Given the description of an element on the screen output the (x, y) to click on. 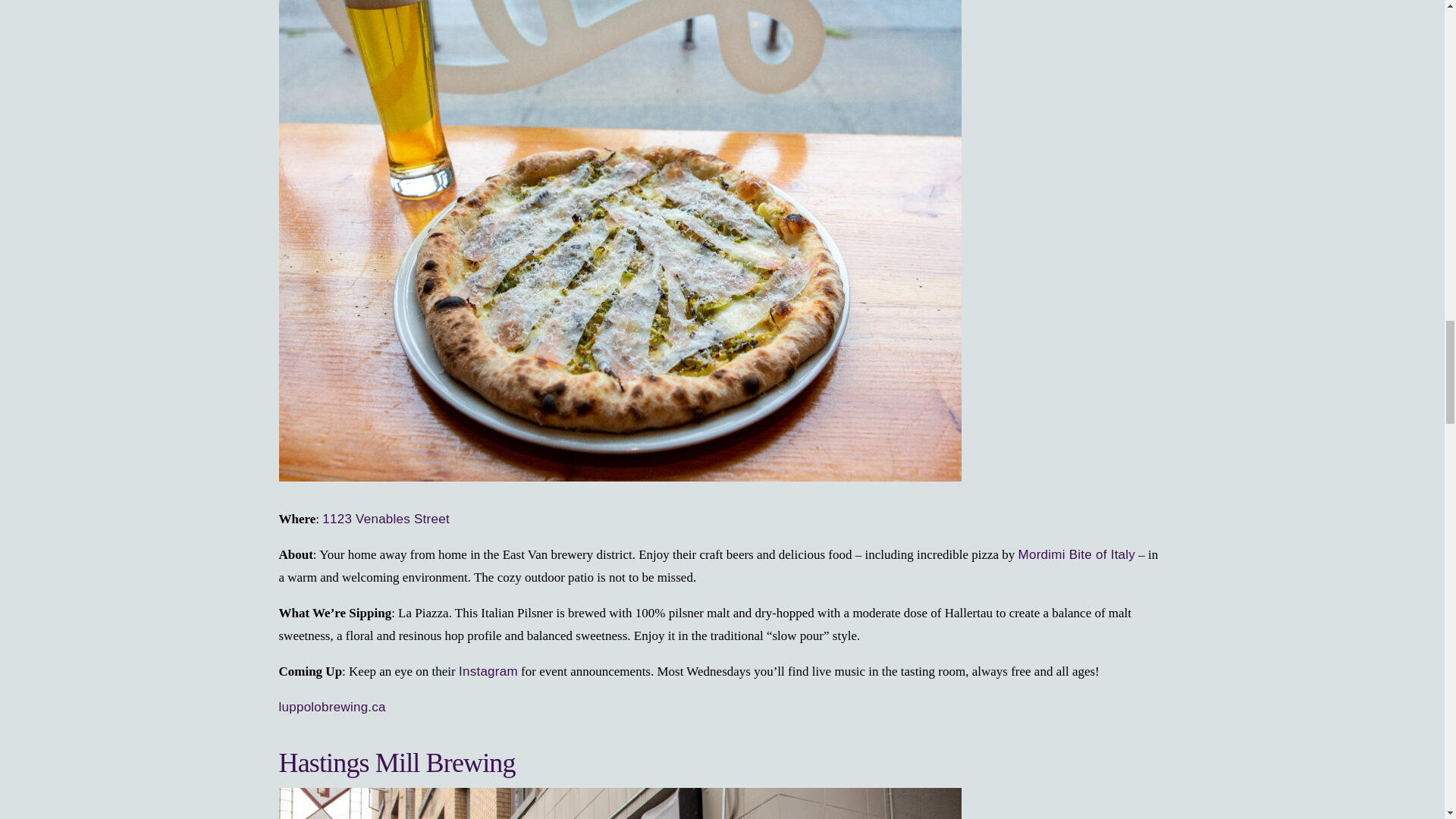
Hastings Mill Brewing - Strathcona BIA (619, 803)
